Given the description of an element on the screen output the (x, y) to click on. 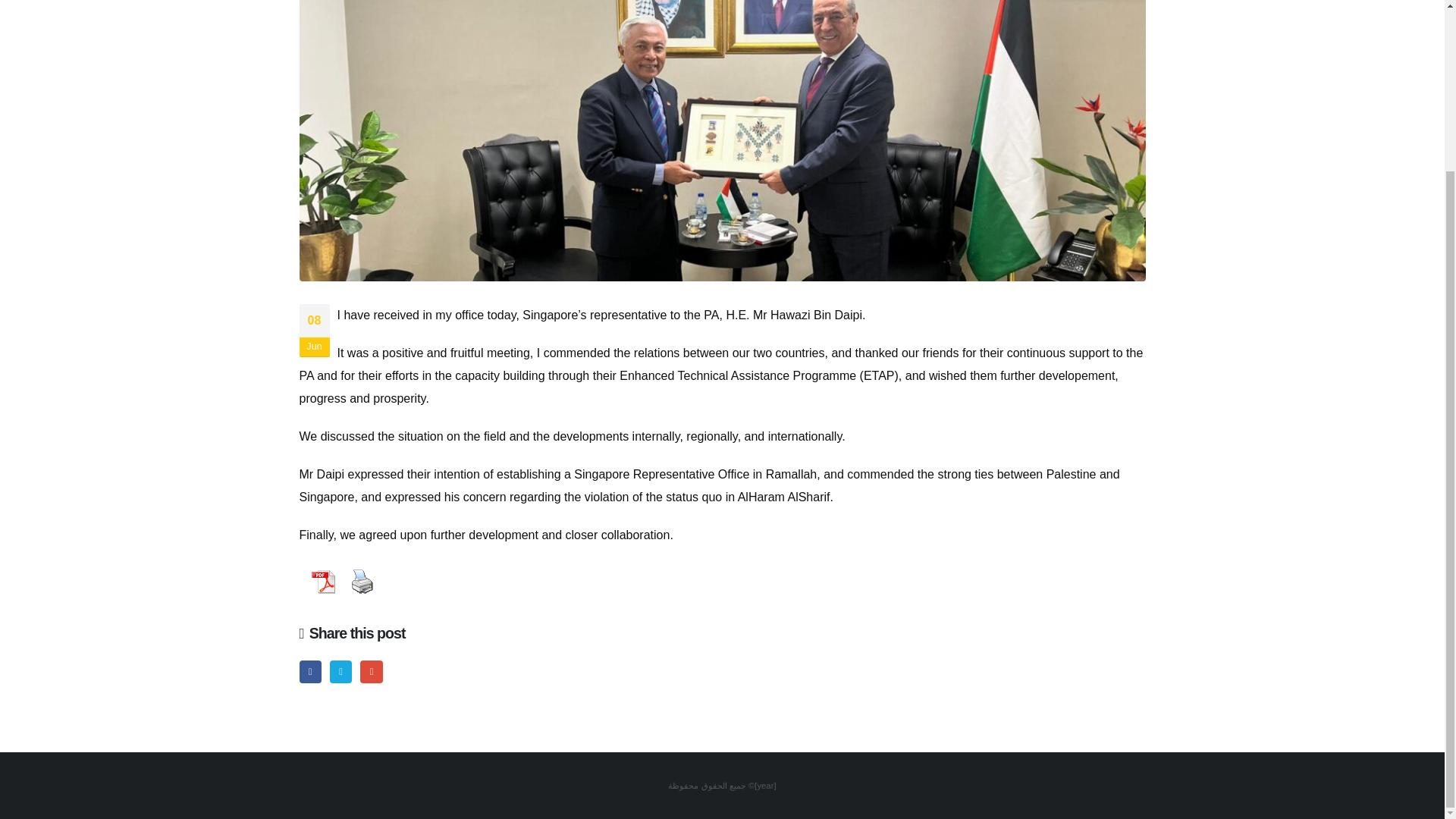
Facebook (309, 671)
Download PDF (321, 581)
Email (370, 671)
Email (370, 671)
Facebook (309, 671)
Twitter (341, 671)
Twitter (341, 671)
Print Content (361, 581)
